Given the description of an element on the screen output the (x, y) to click on. 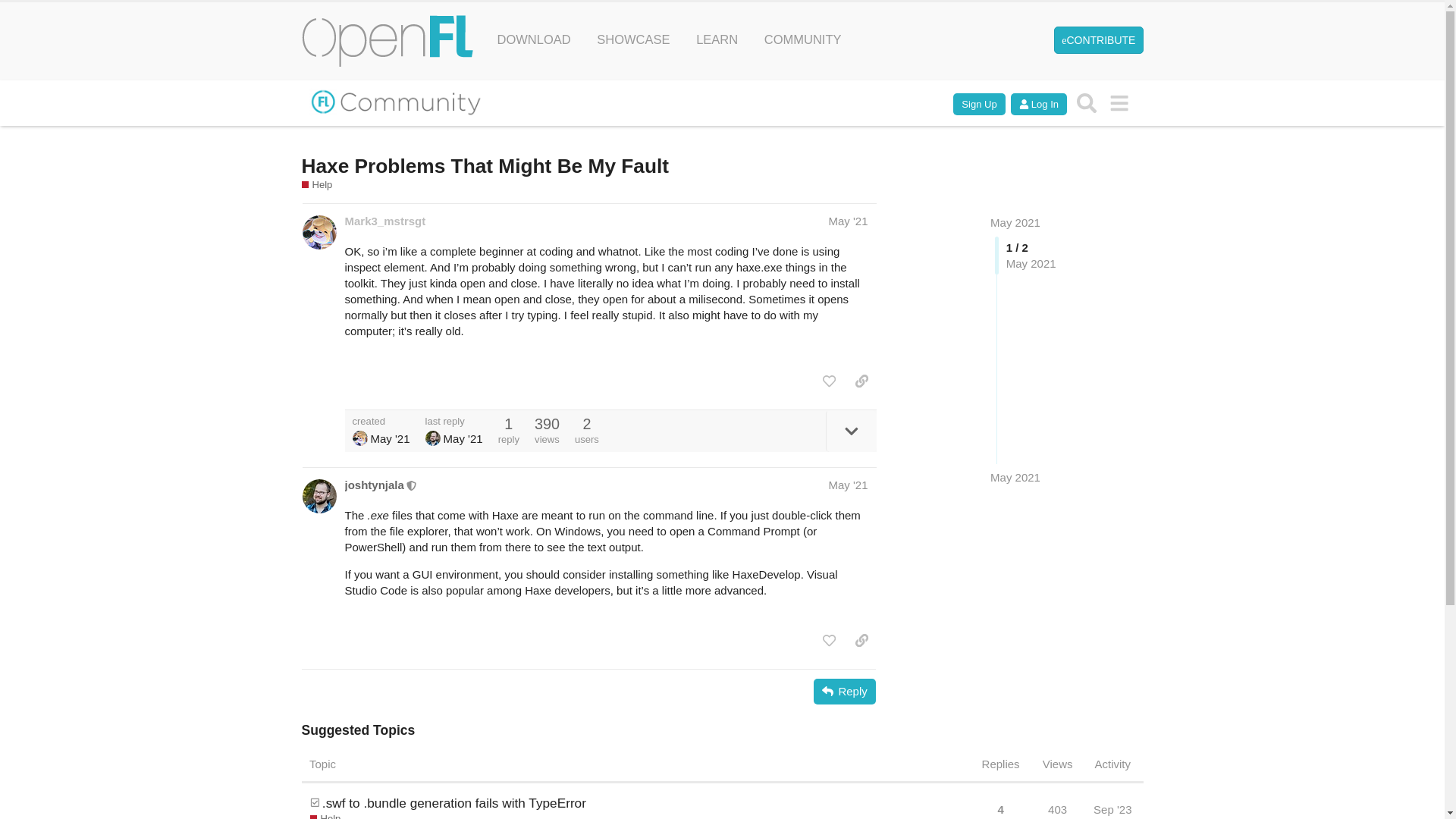
This user is a moderator (411, 484)
May 2021 (1015, 477)
May 2021 (1015, 477)
May '21 (847, 220)
joshtynjala (373, 484)
May 22, 2021 12:46 am (463, 438)
Mark3 mstrsgt (359, 437)
May 2021 (1015, 222)
Haxe Problems That Might Be My Fault (485, 165)
Help (324, 815)
CONTRIBUTE (1098, 40)
May 2021 (1015, 222)
share a link to this post (861, 380)
SHOWCASE (633, 39)
Log In (1038, 104)
